Given the description of an element on the screen output the (x, y) to click on. 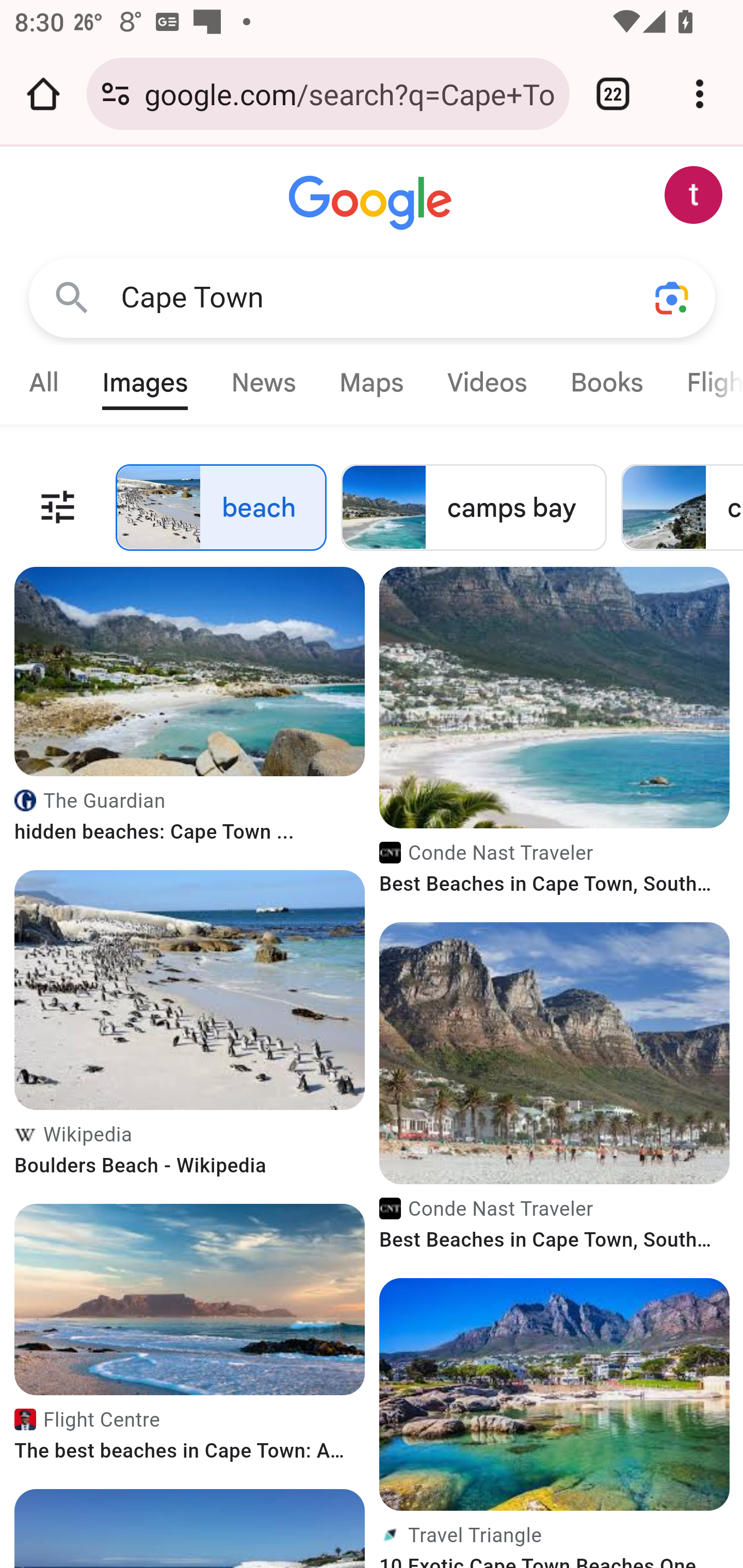
Open the home page (43, 93)
Connection is secure (115, 93)
Switch or close tabs (612, 93)
Customize and control Google Chrome (699, 93)
Go to Google Home (371, 204)
Search using your camera or photos Camera search (672, 297)
Google Search (61, 296)
Cape Town (360, 298)
All (43, 382)
News (264, 382)
Maps (370, 382)
Videos (486, 382)
Books (606, 382)
Tools menu (58, 506)
Remove refinement: beach beach (220, 506)
camps bay (473, 506)
clifton (682, 506)
The Guardianhidden beaches: Cape Town ... (190, 821)
Boulders Beach - Wikipedia (190, 989)
WikipediaBoulders Beach - Wikipedia (190, 1154)
Flight CentreThe best beaches in Cape Town: An ... (190, 1438)
